Given the description of an element on the screen output the (x, y) to click on. 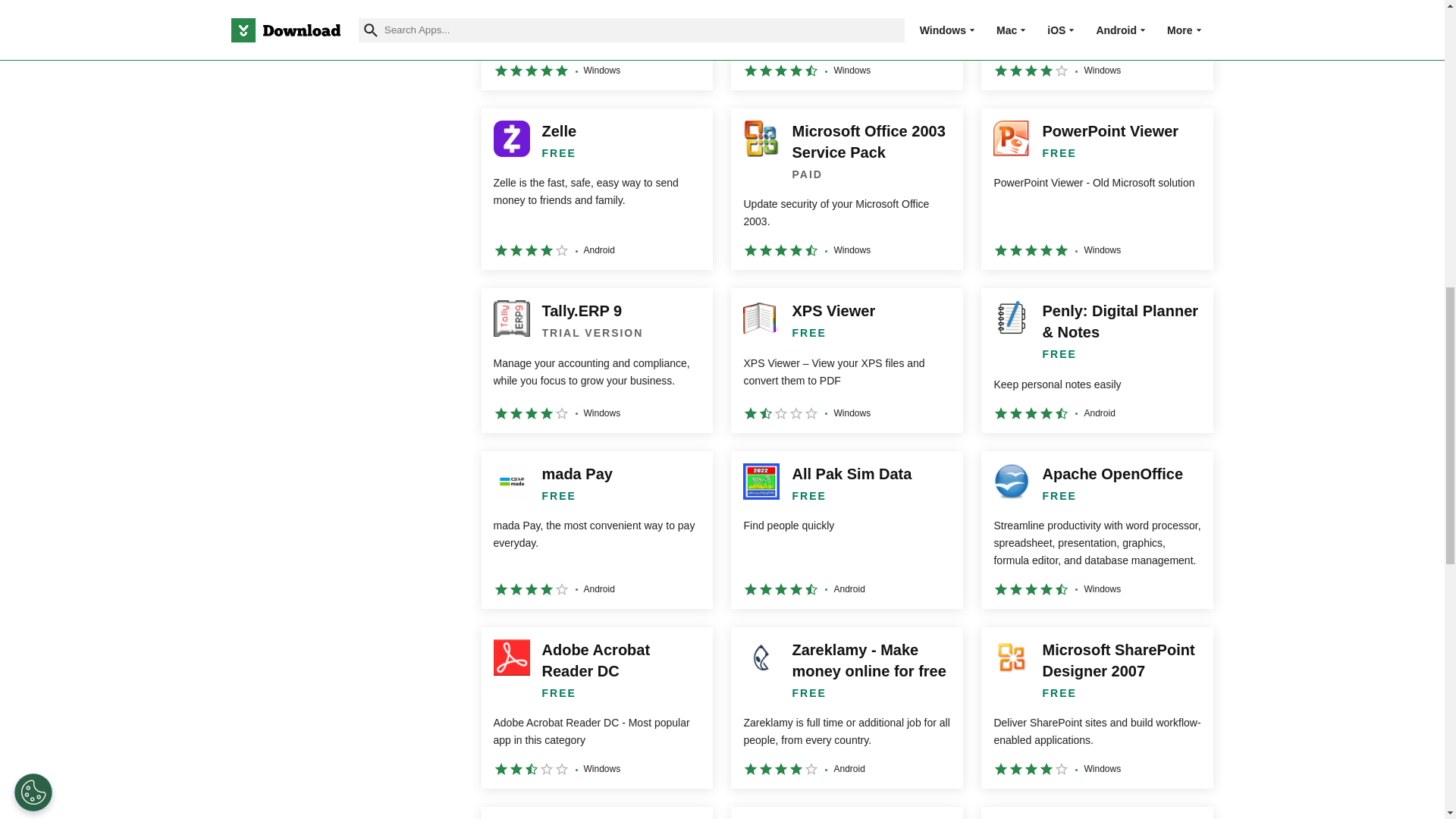
All Pak Sim Data (846, 530)
Microsoft Excel 2013 (1096, 45)
PDF ReDirect (846, 45)
Apache OpenOffice (1096, 530)
Adobe Acrobat Reader DC (596, 707)
Microsoft Office 2003 Service Pack (846, 189)
Zareklamy - Make money online for free (846, 707)
XPS Viewer (846, 360)
PowerPoint Viewer (1096, 189)
Zelle (596, 189)
Free Barcode Generator (596, 45)
Tally.ERP 9 (596, 360)
mada Pay (596, 530)
